Given the description of an element on the screen output the (x, y) to click on. 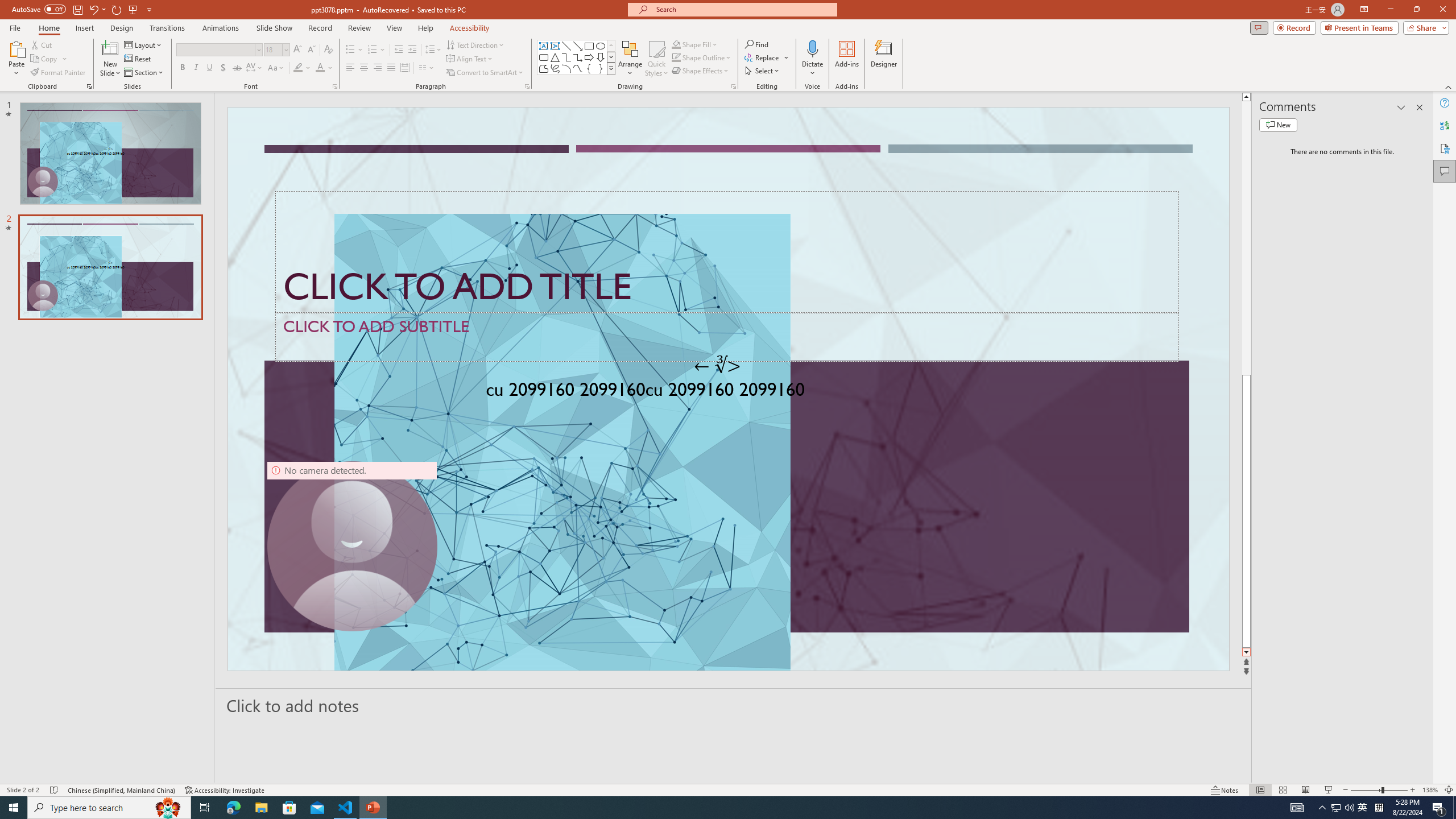
New comment (1278, 124)
